Given the description of an element on the screen output the (x, y) to click on. 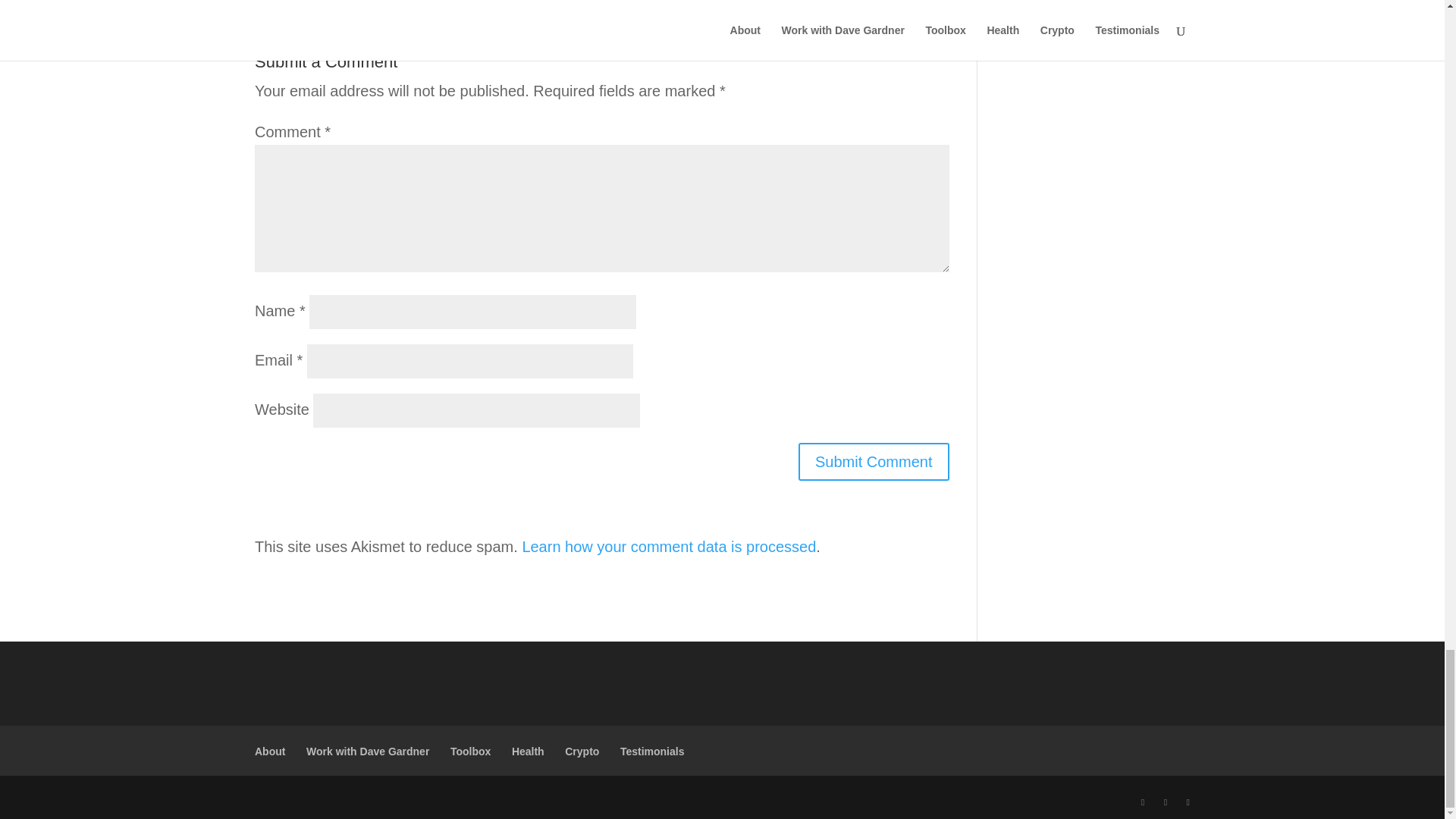
Crypto (581, 751)
Health (528, 751)
Submit Comment (873, 461)
About (269, 751)
Testimonials (652, 751)
Submit Comment (873, 461)
Work with Dave Gardner (367, 751)
Learn how your comment data is processed (668, 546)
Toolbox (469, 751)
